Given the description of an element on the screen output the (x, y) to click on. 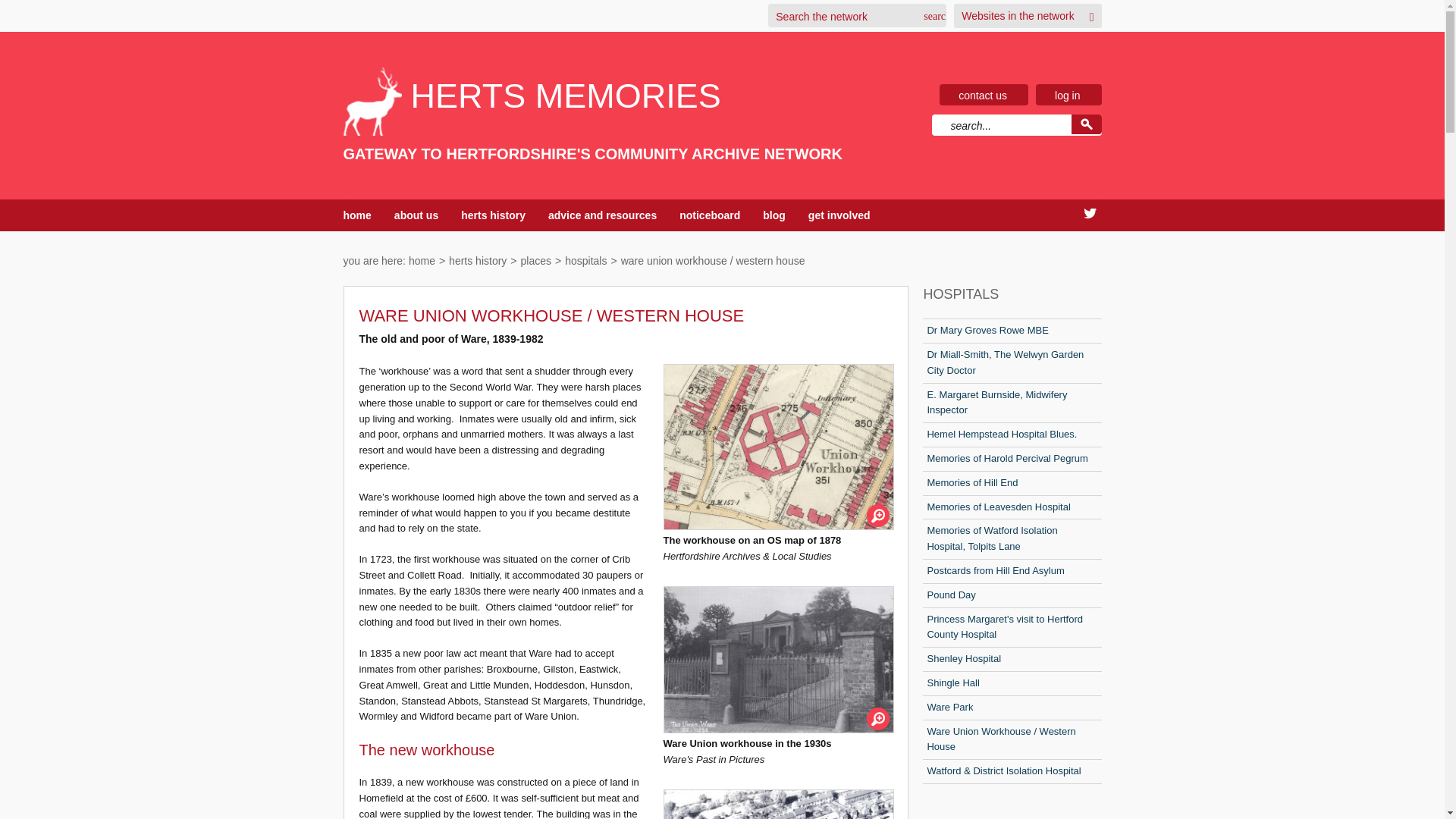
Aerial view showing the workhouse, late 1930s (778, 804)
HERTS MEMORIES (592, 95)
home (356, 214)
blog (774, 214)
The workhouse on an OS map of 1878 (778, 446)
herts history (477, 260)
Search Herts Memories (1085, 124)
contact us (982, 95)
Ware Union workhouse in the 1930s (778, 659)
log in (1067, 95)
home (422, 260)
places (536, 260)
Search (930, 16)
about us (416, 214)
Search (930, 16)
